Given the description of an element on the screen output the (x, y) to click on. 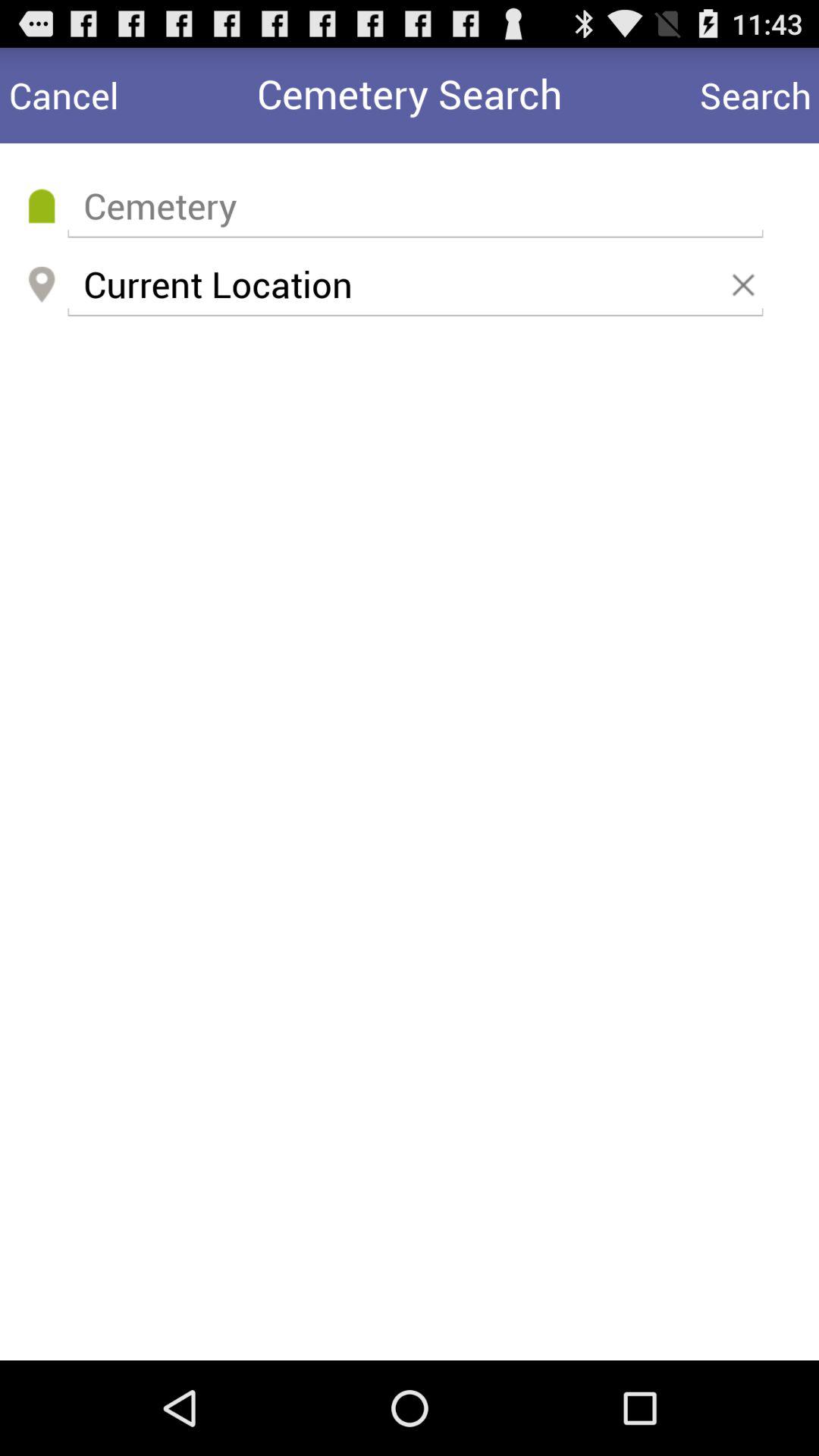
select app to the left of cemetery search item (63, 95)
